Given the description of an element on the screen output the (x, y) to click on. 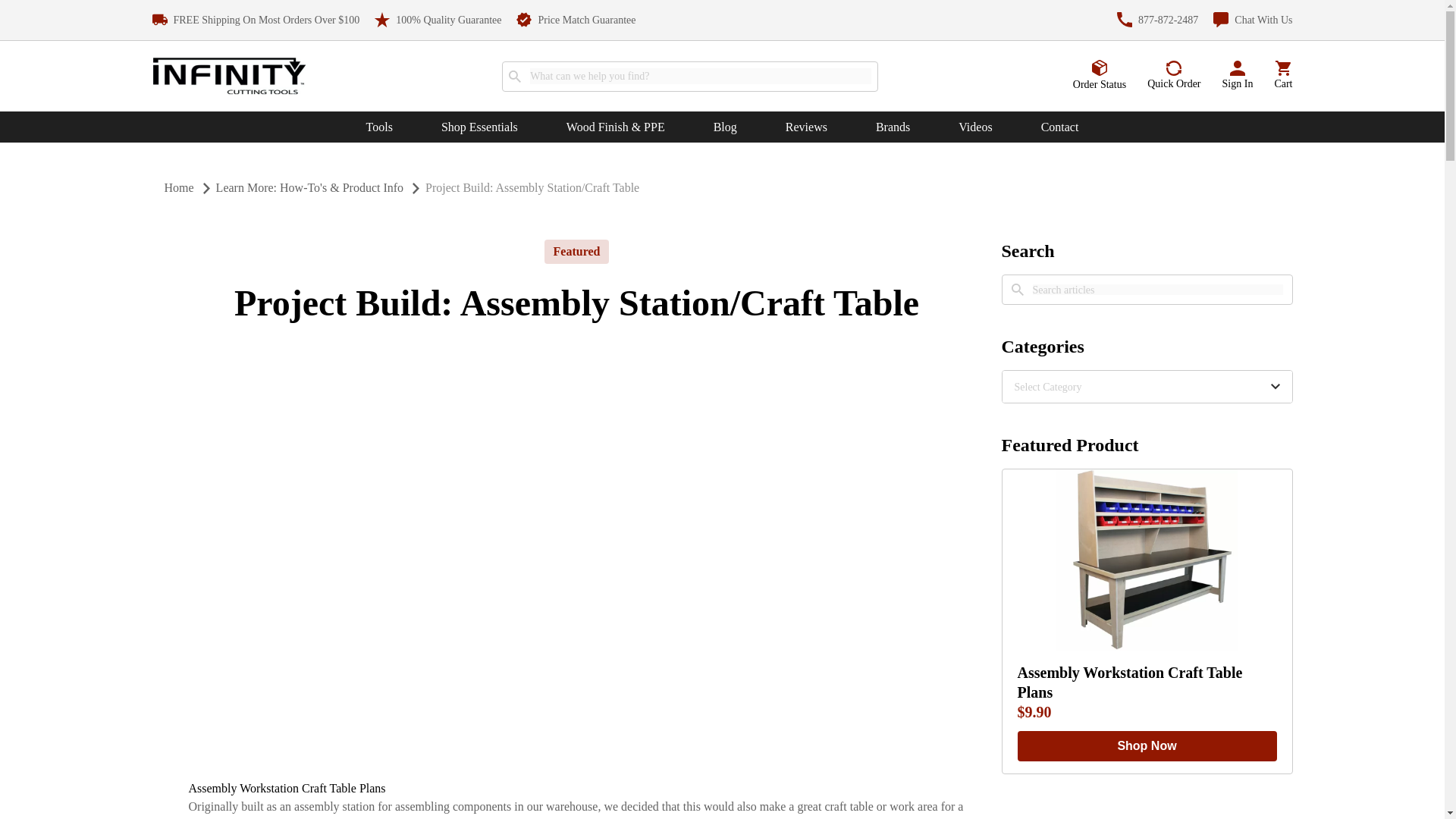
Quick Order (1173, 75)
Sign In (1238, 75)
Tools (379, 126)
Chat With Us (1252, 19)
Order Status (1099, 75)
877-872-2487 (1157, 19)
